Given the description of an element on the screen output the (x, y) to click on. 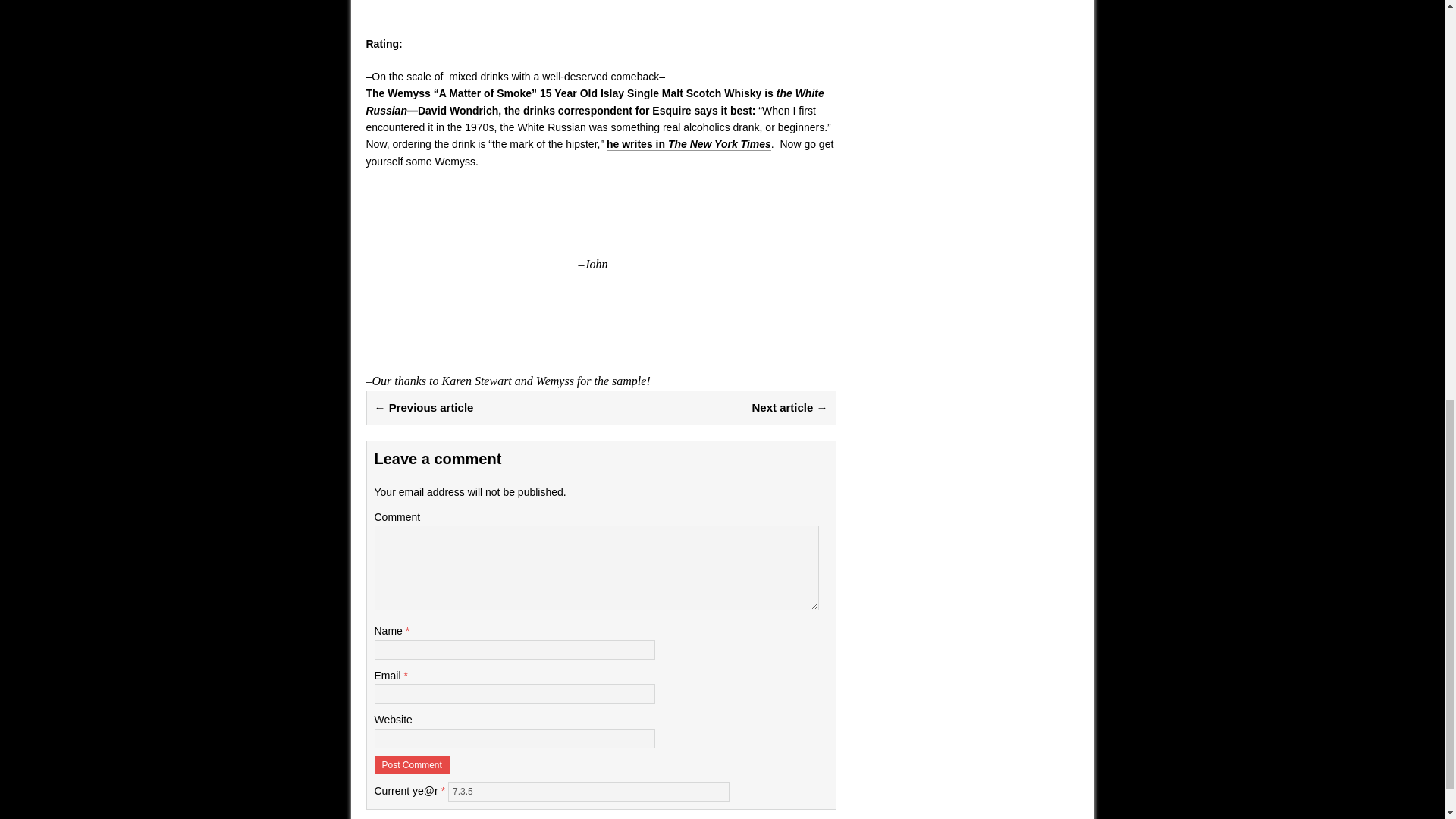
he writes in The New York Times (689, 144)
7.3.5 (588, 791)
Post Comment (411, 764)
Post Comment (411, 764)
